Given the description of an element on the screen output the (x, y) to click on. 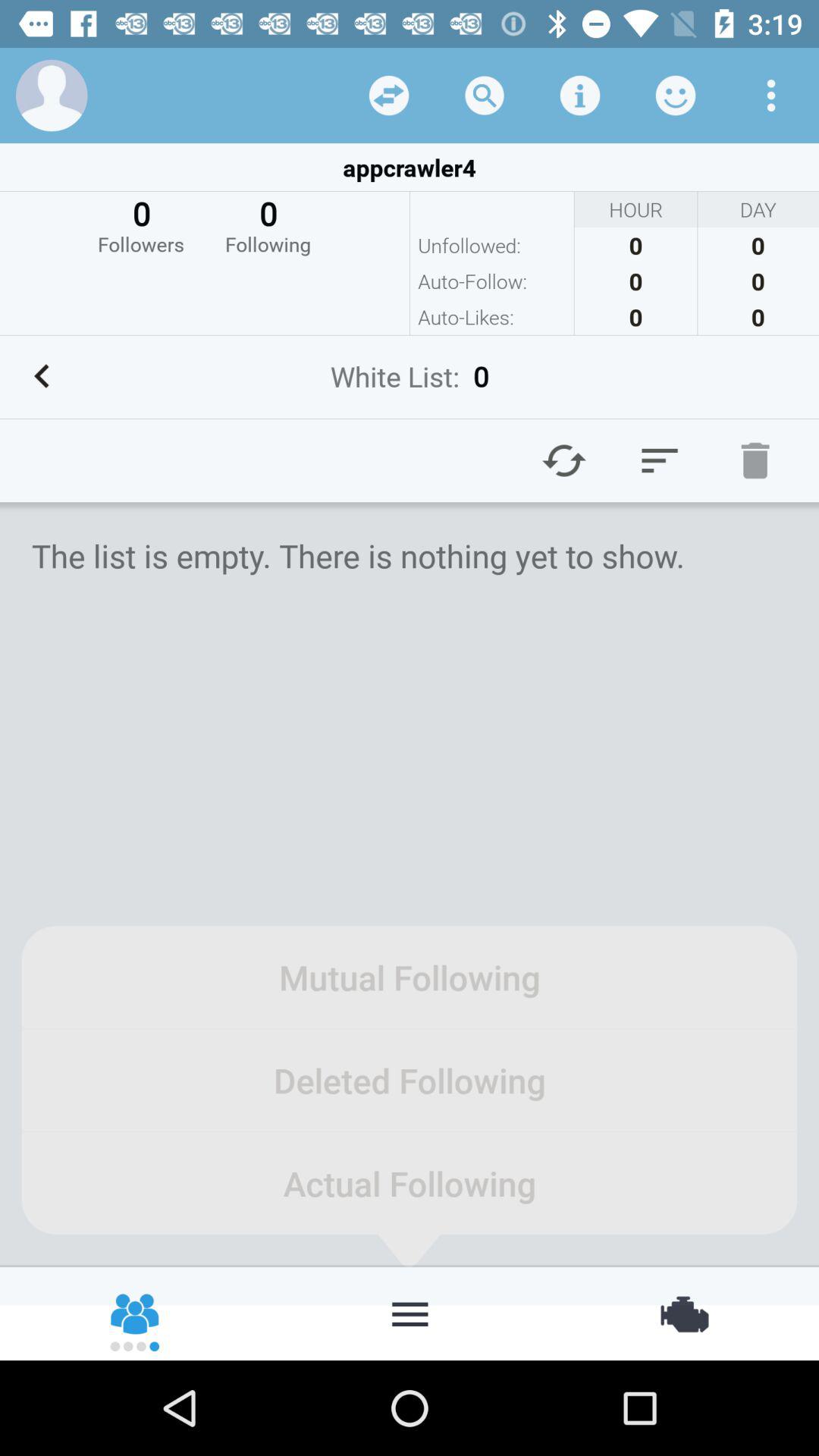
sort list (659, 460)
